Given the description of an element on the screen output the (x, y) to click on. 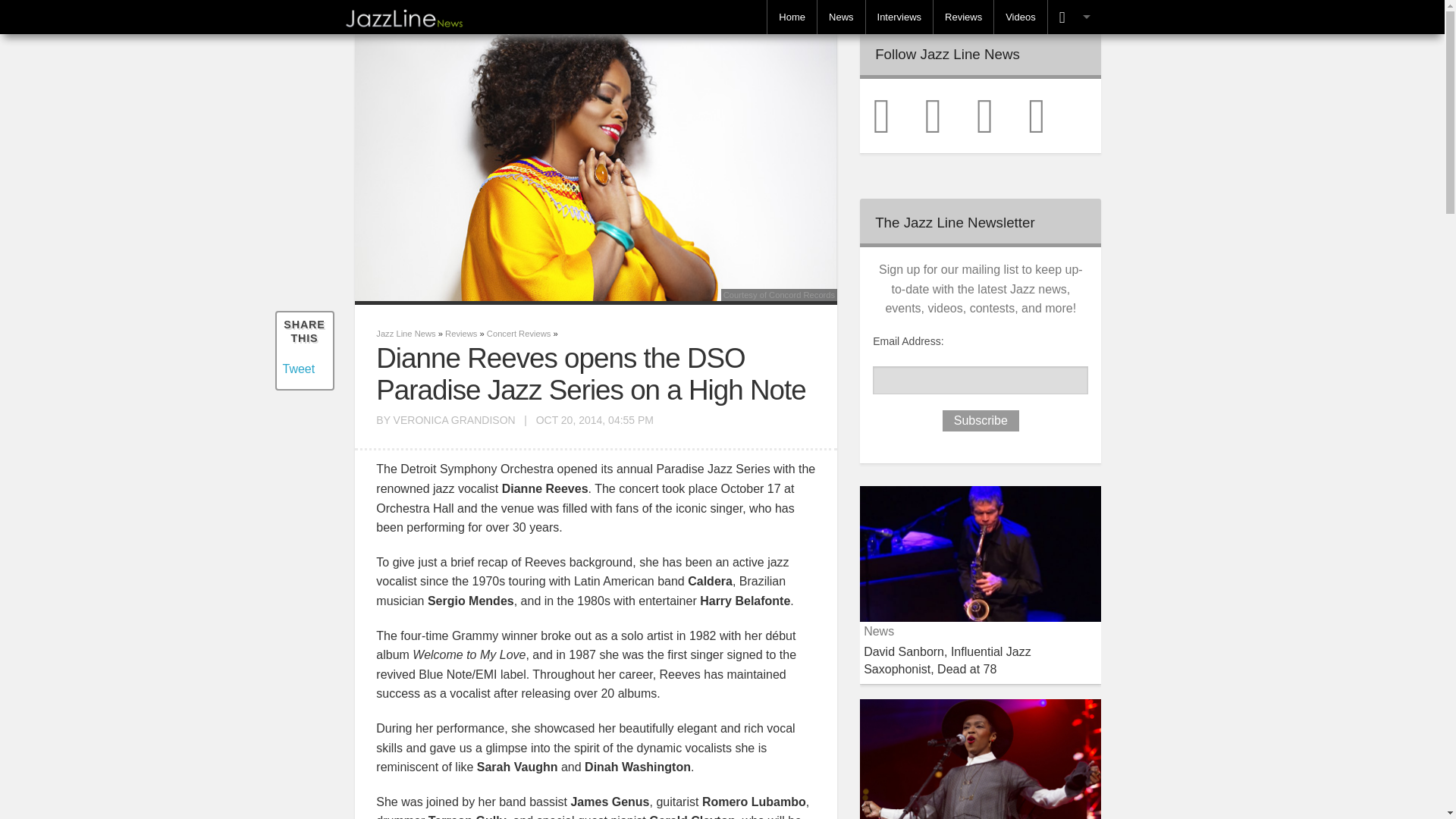
Interviews (899, 17)
Jazz News on Twitter (896, 114)
Subscribe (980, 420)
Home (791, 17)
Concert Reviews (518, 333)
Tweet (298, 368)
Jazz News on YouTube Channel (1052, 114)
Jazz Videos (1020, 17)
Subscribe (980, 420)
Reviews (461, 333)
